Given the description of an element on the screen output the (x, y) to click on. 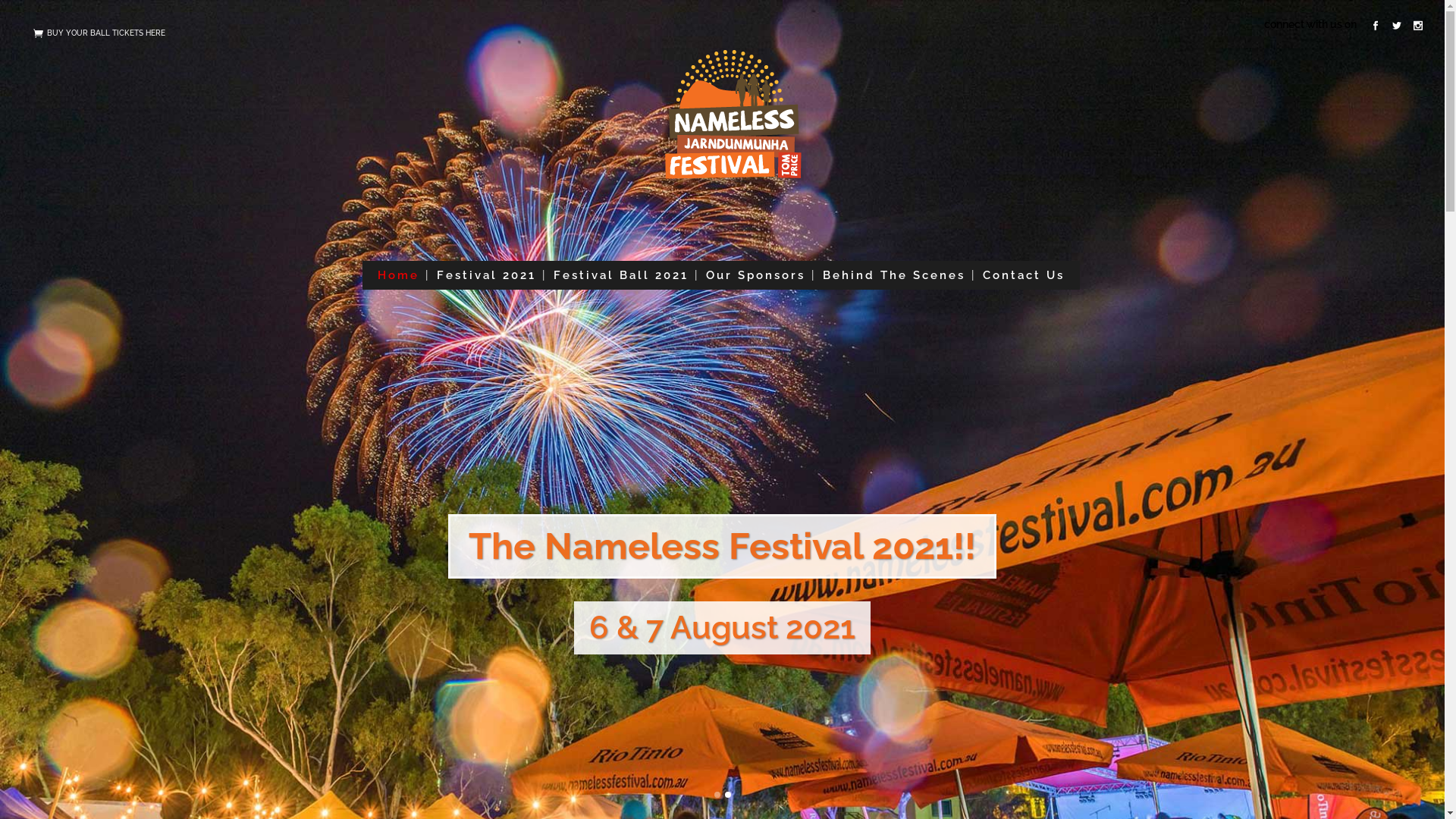
Home Element type: text (398, 275)
BUY YOUR BALL TICKETS HERE Element type: text (106, 31)
Festival Ball 2021 Element type: text (621, 275)
Contact Us Element type: text (1023, 275)
Festival 2021 Element type: text (486, 275)
Our Sponsors Element type: text (754, 275)
Behind The Scenes Element type: text (893, 275)
